Given the description of an element on the screen output the (x, y) to click on. 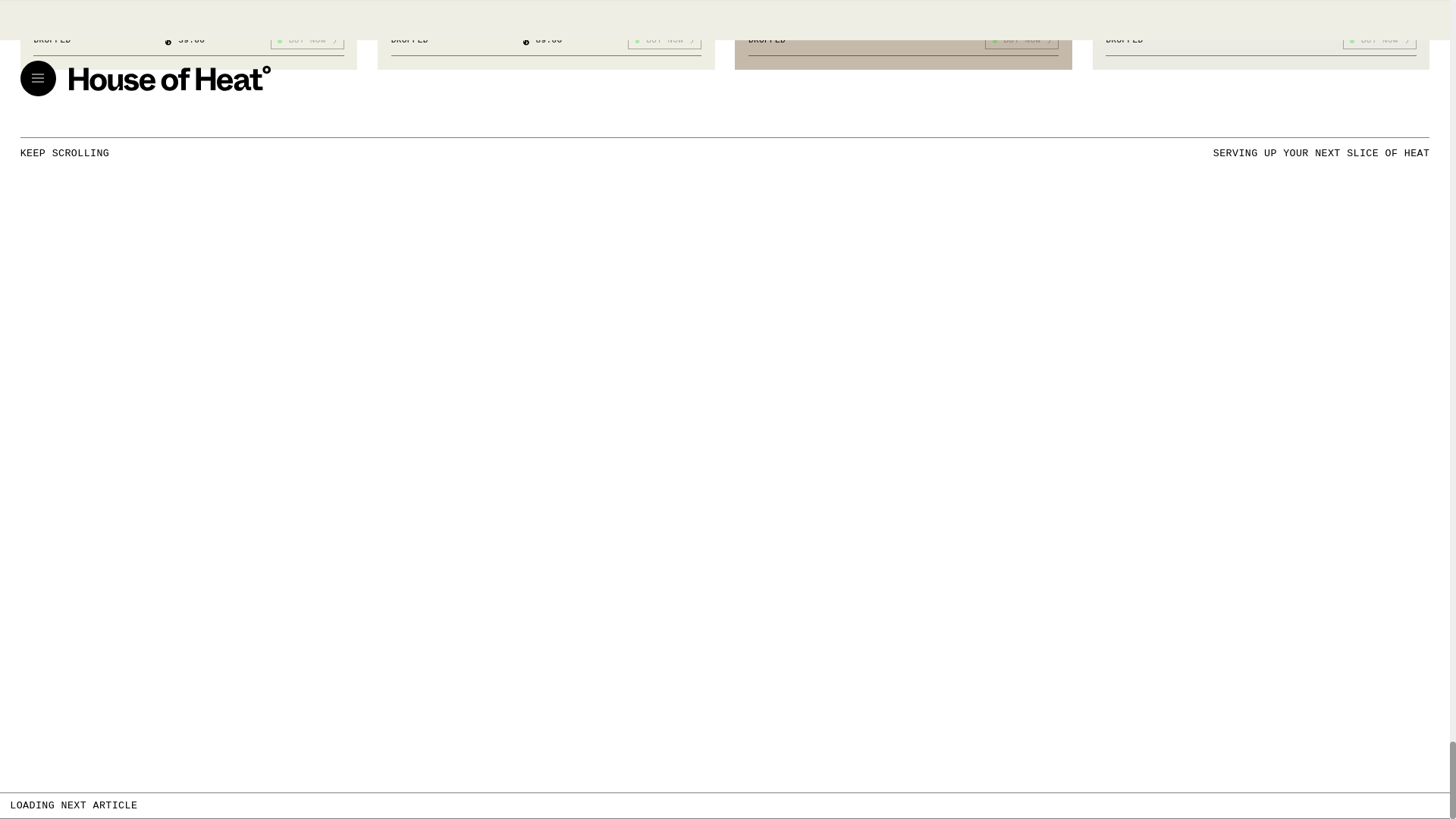
BUY NOW (1378, 40)
BUY NOW (306, 40)
BUY NOW (1021, 40)
BUY NOW (664, 40)
